Given the description of an element on the screen output the (x, y) to click on. 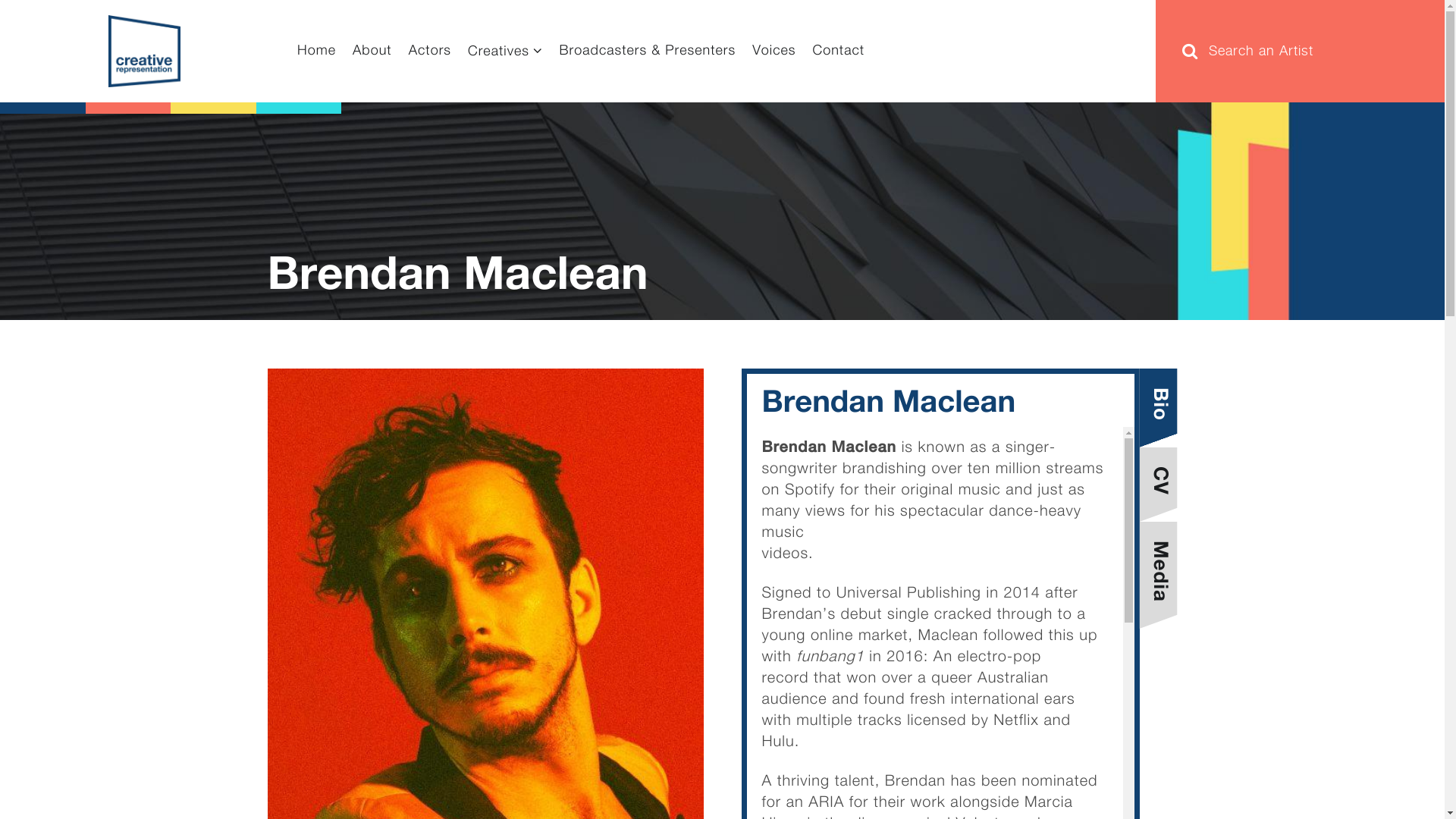
Creatives Element type: text (505, 51)
Broadcasters & Presenters Element type: text (647, 51)
Creative Representation Element type: hover (144, 51)
About Element type: text (372, 51)
Actors Element type: text (429, 51)
Home Element type: text (316, 51)
Voices Element type: text (773, 51)
Contact Element type: text (838, 51)
